Given the description of an element on the screen output the (x, y) to click on. 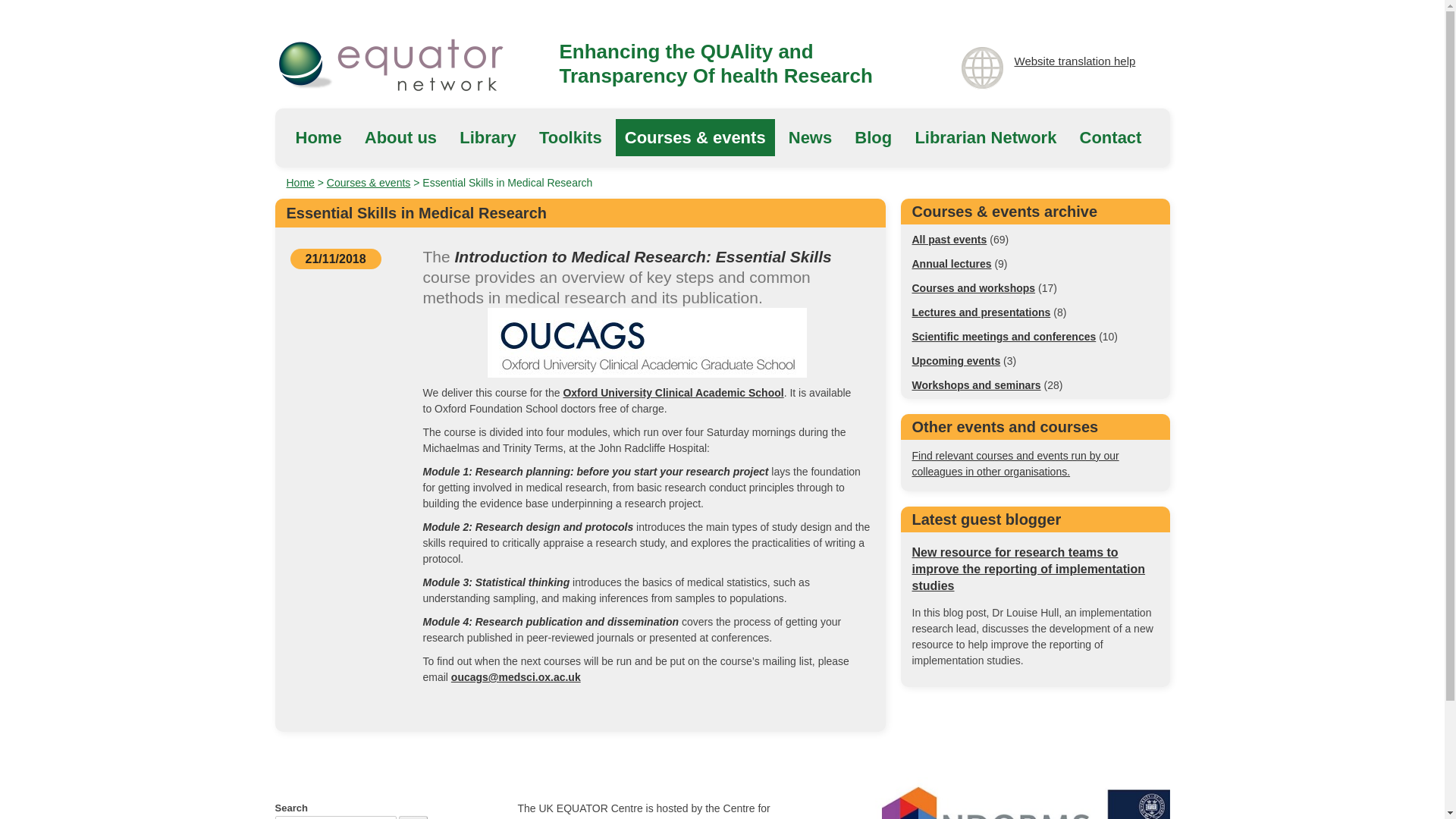
Home (318, 137)
Courses and workshops (973, 287)
All past events (949, 239)
News (809, 137)
Go (412, 817)
Home (300, 182)
About us (400, 137)
Lectures and presentations (980, 312)
Toolkits (570, 137)
Library (487, 137)
Blog (873, 137)
Annual lectures (951, 263)
Oxford University Clinical Academic School (672, 392)
